Given the description of an element on the screen output the (x, y) to click on. 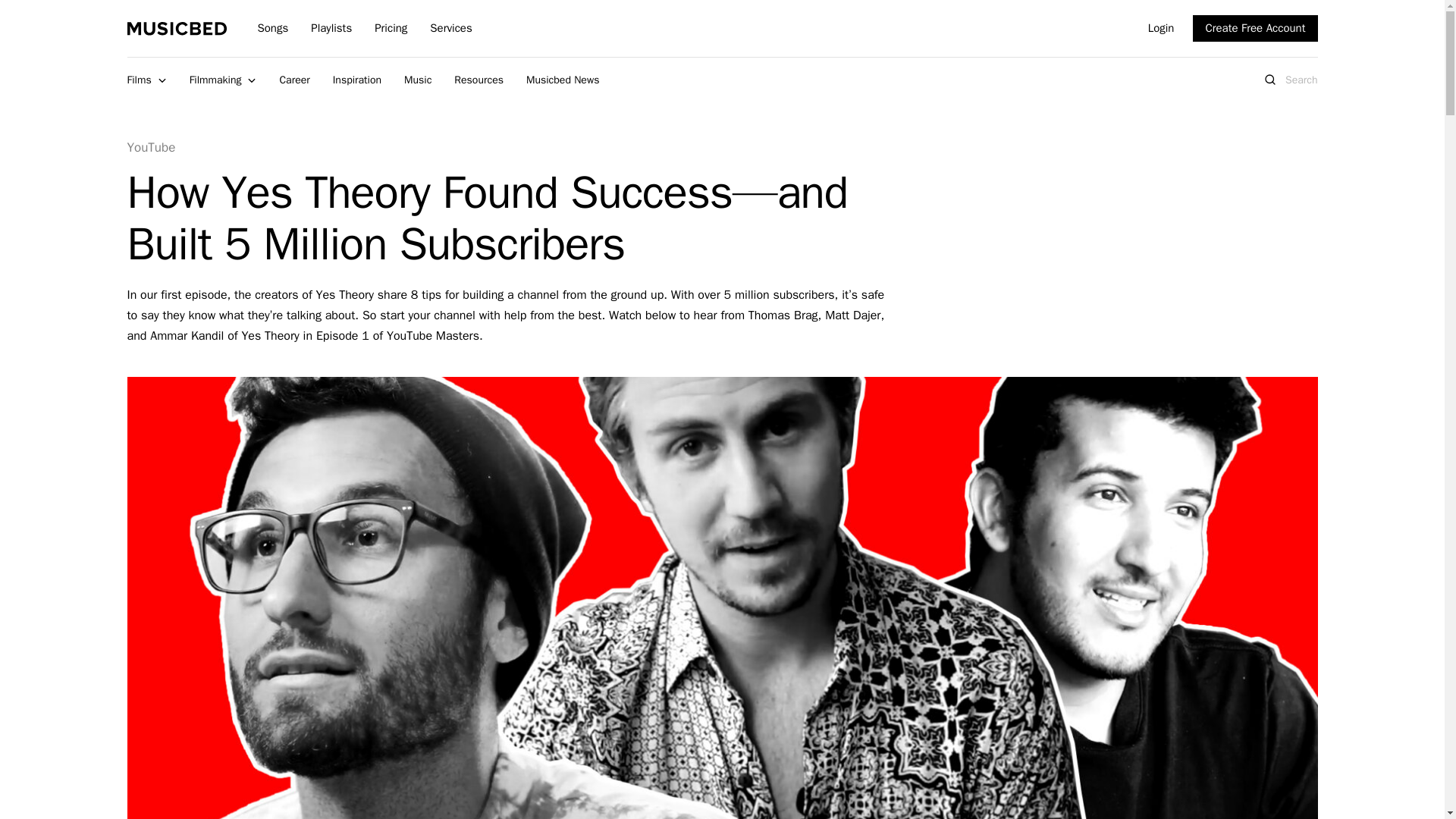
Playlists (331, 28)
Create Free Account (1254, 28)
Login (1161, 28)
Pricing (390, 28)
Search (484, 29)
Login (1161, 28)
Songs (272, 28)
Search (484, 29)
Services (450, 28)
Musicbed Blog (177, 28)
Create Free Account (1254, 28)
Films (147, 80)
